Given the description of an element on the screen output the (x, y) to click on. 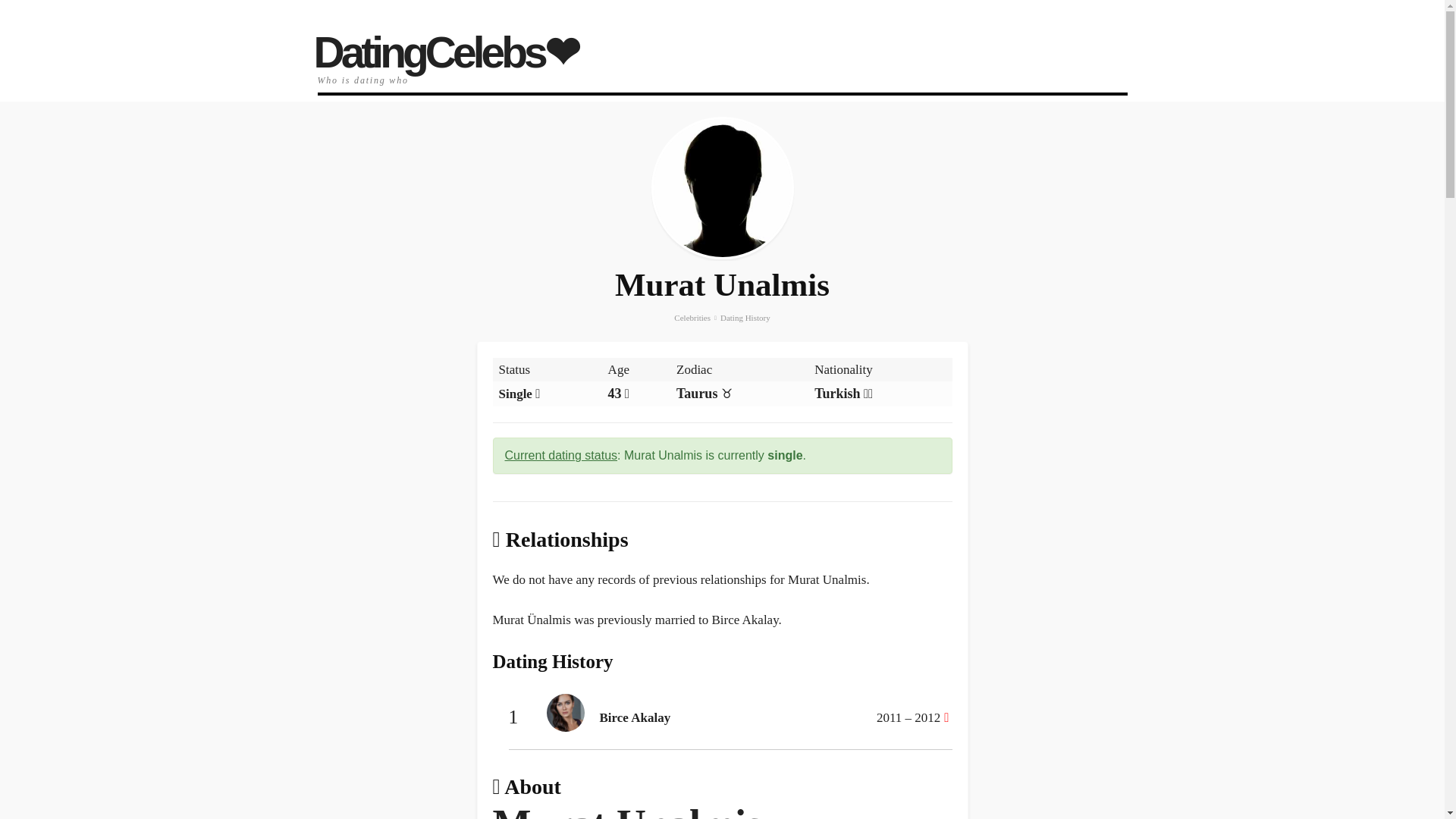
View all posts in Dating History (745, 317)
Celebrities (692, 317)
Dating History (745, 317)
placeholder-male-7 (722, 187)
